Given the description of an element on the screen output the (x, y) to click on. 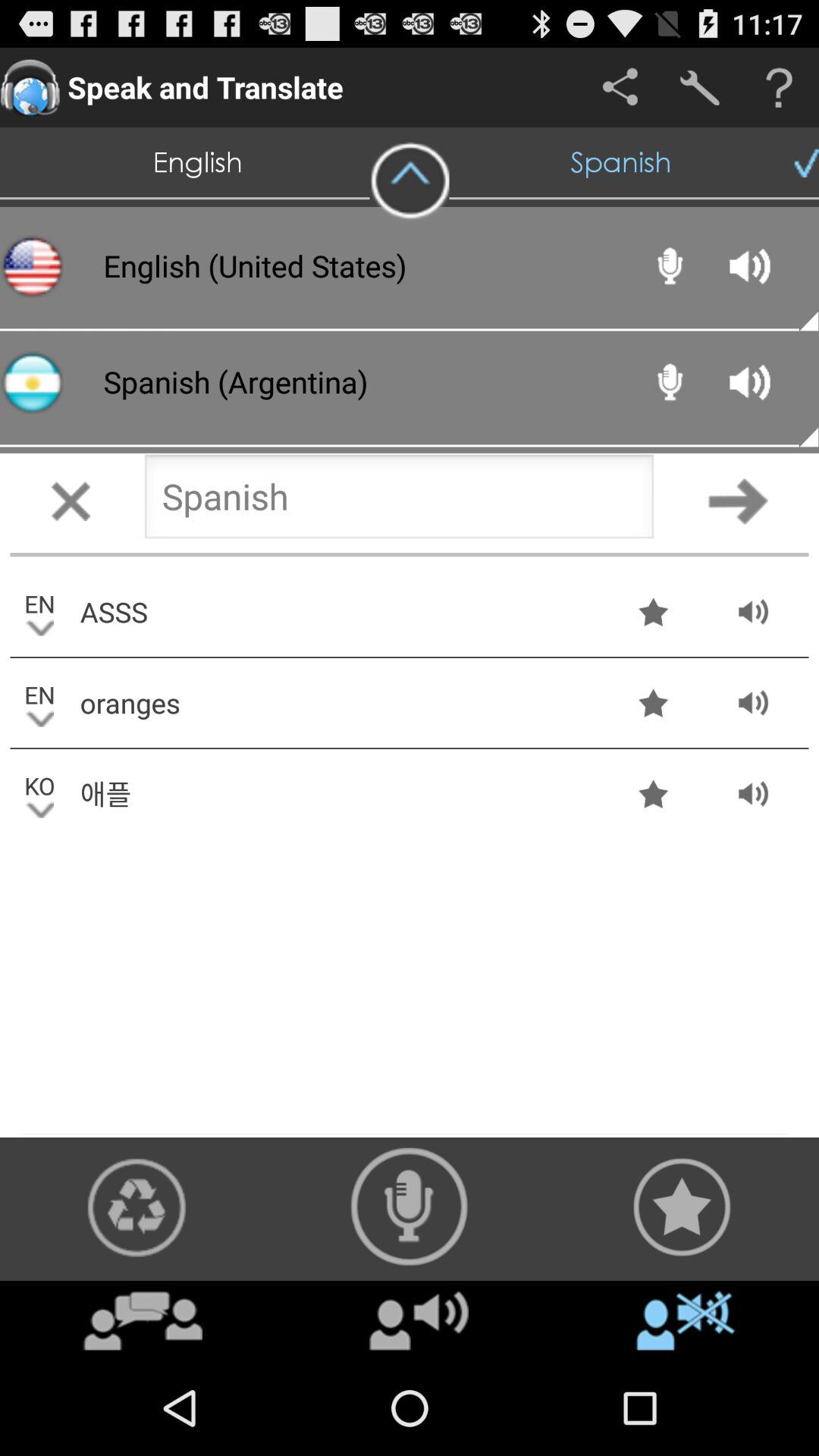
choose the item to the left of spanish item (409, 181)
